Given the description of an element on the screen output the (x, y) to click on. 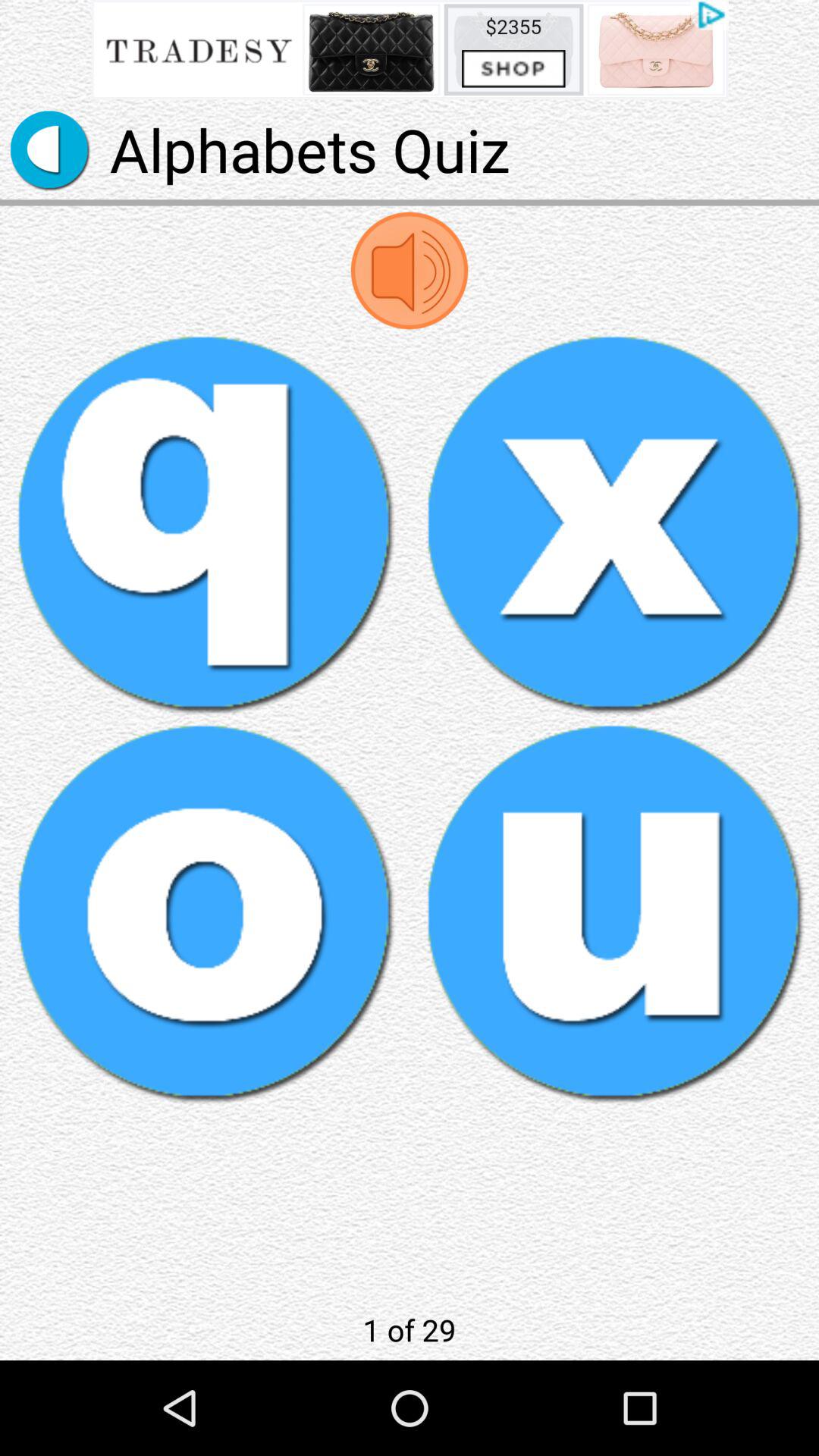
options display bar (409, 49)
